Given the description of an element on the screen output the (x, y) to click on. 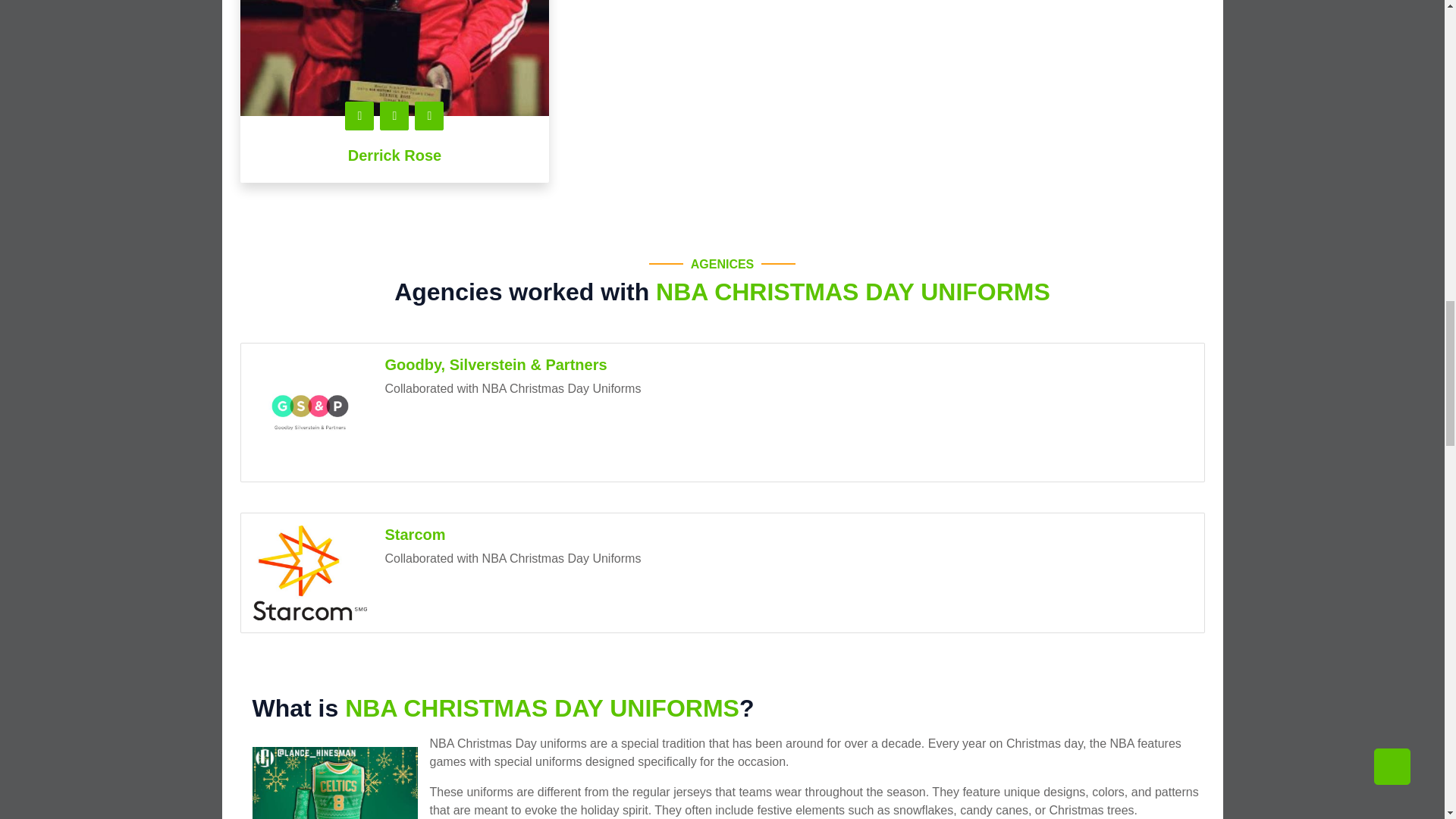
Derrick Rose (394, 155)
Starcom (309, 572)
NBA Christmas Day Uniforms (334, 776)
Starcom (415, 534)
Derrick Rose (394, 58)
